Given the description of an element on the screen output the (x, y) to click on. 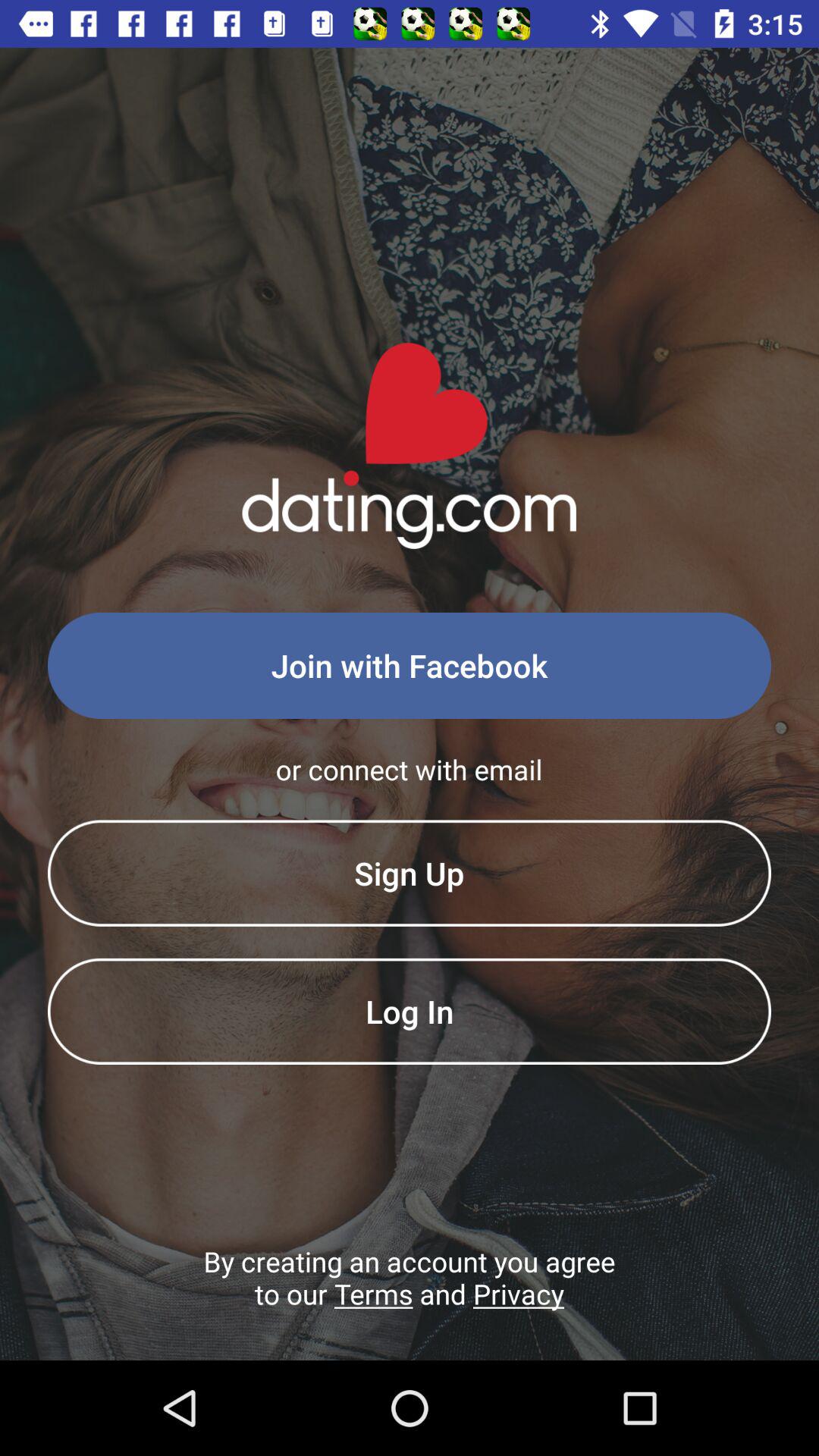
tap icon below log in item (409, 1301)
